Given the description of an element on the screen output the (x, y) to click on. 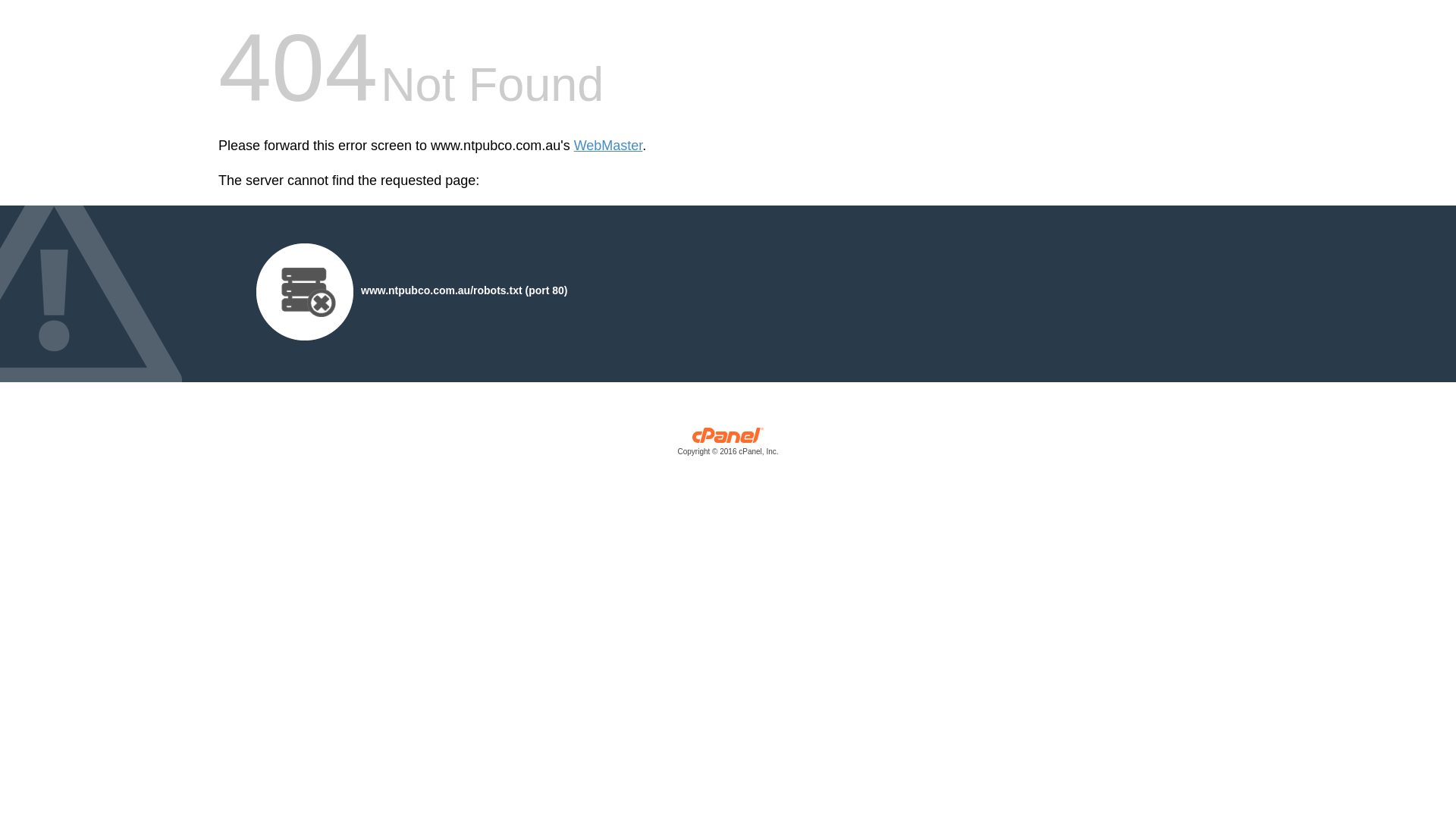
WebMaster Element type: text (608, 145)
